Given the description of an element on the screen output the (x, y) to click on. 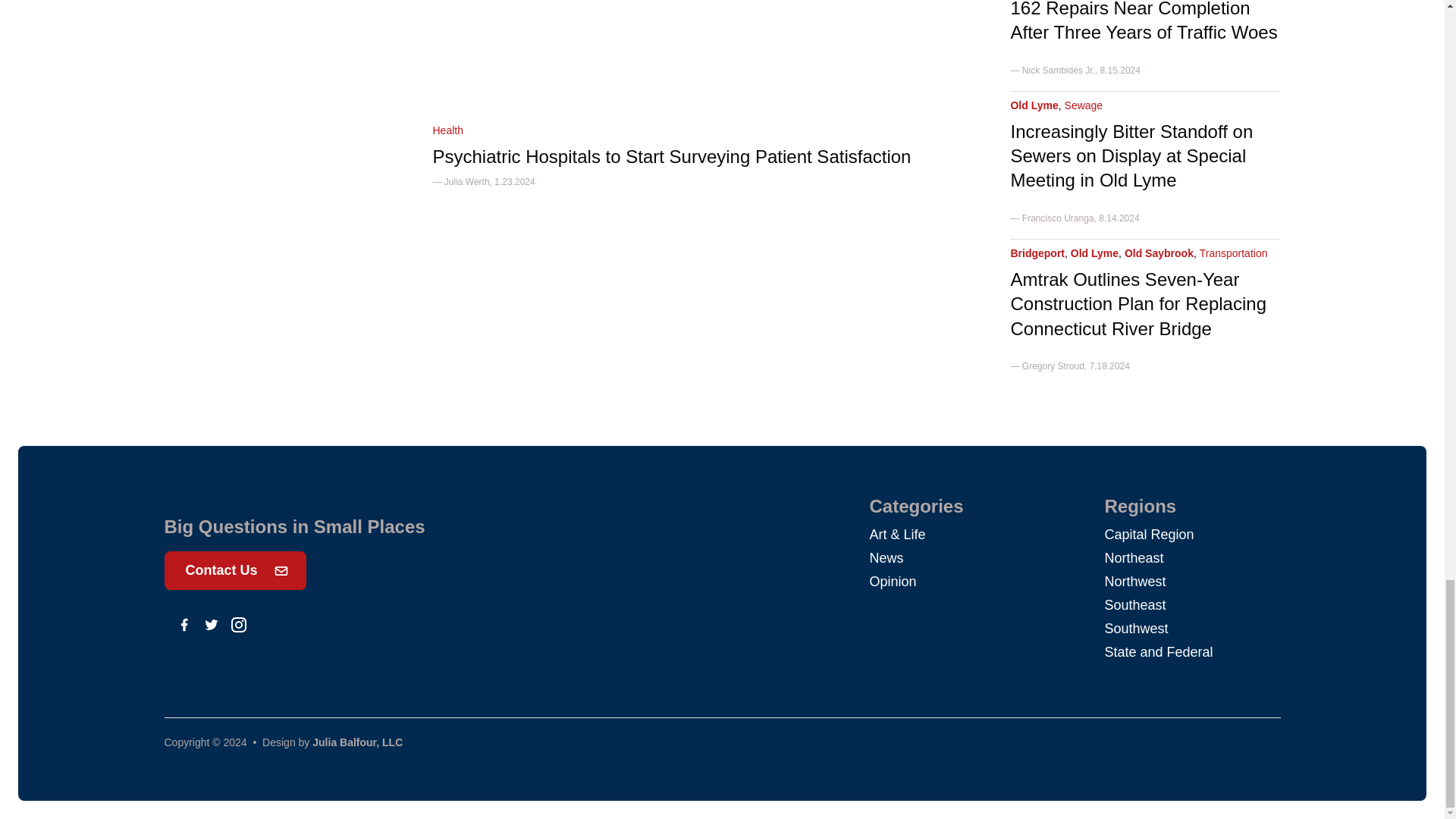
facebook (183, 624)
instagram (238, 624)
twitter (210, 624)
